Given the description of an element on the screen output the (x, y) to click on. 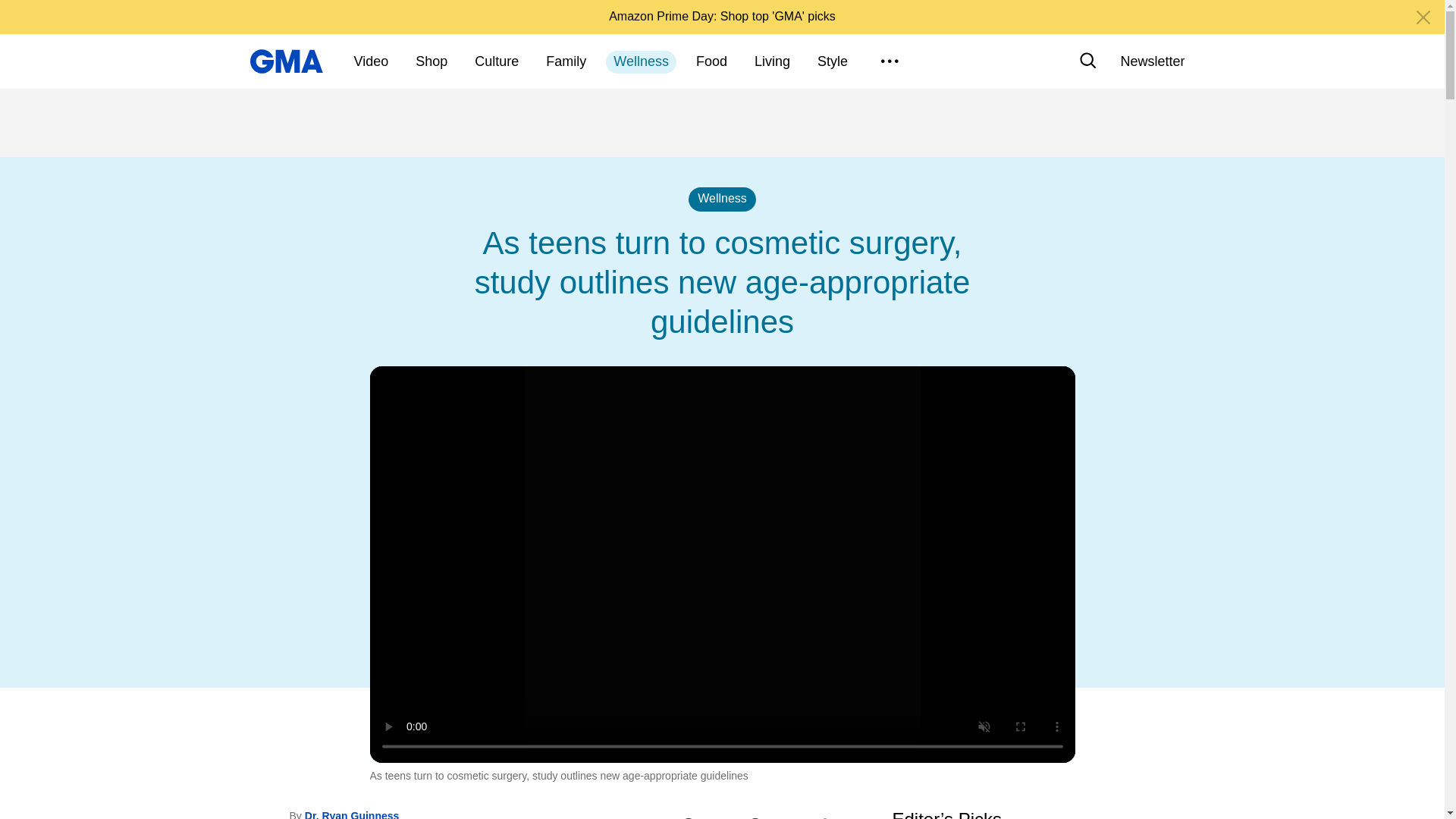
Style (832, 61)
Amazon Prime Day: Shop top 'GMA' picks (721, 15)
Search (1087, 60)
Family (566, 61)
Video (371, 61)
Newsletter (1152, 61)
Wellness (721, 199)
Dr. Ryan Guinness (351, 814)
Wellness (641, 61)
Shop (430, 61)
Living (771, 61)
Food (711, 61)
Culture (496, 61)
